Given the description of an element on the screen output the (x, y) to click on. 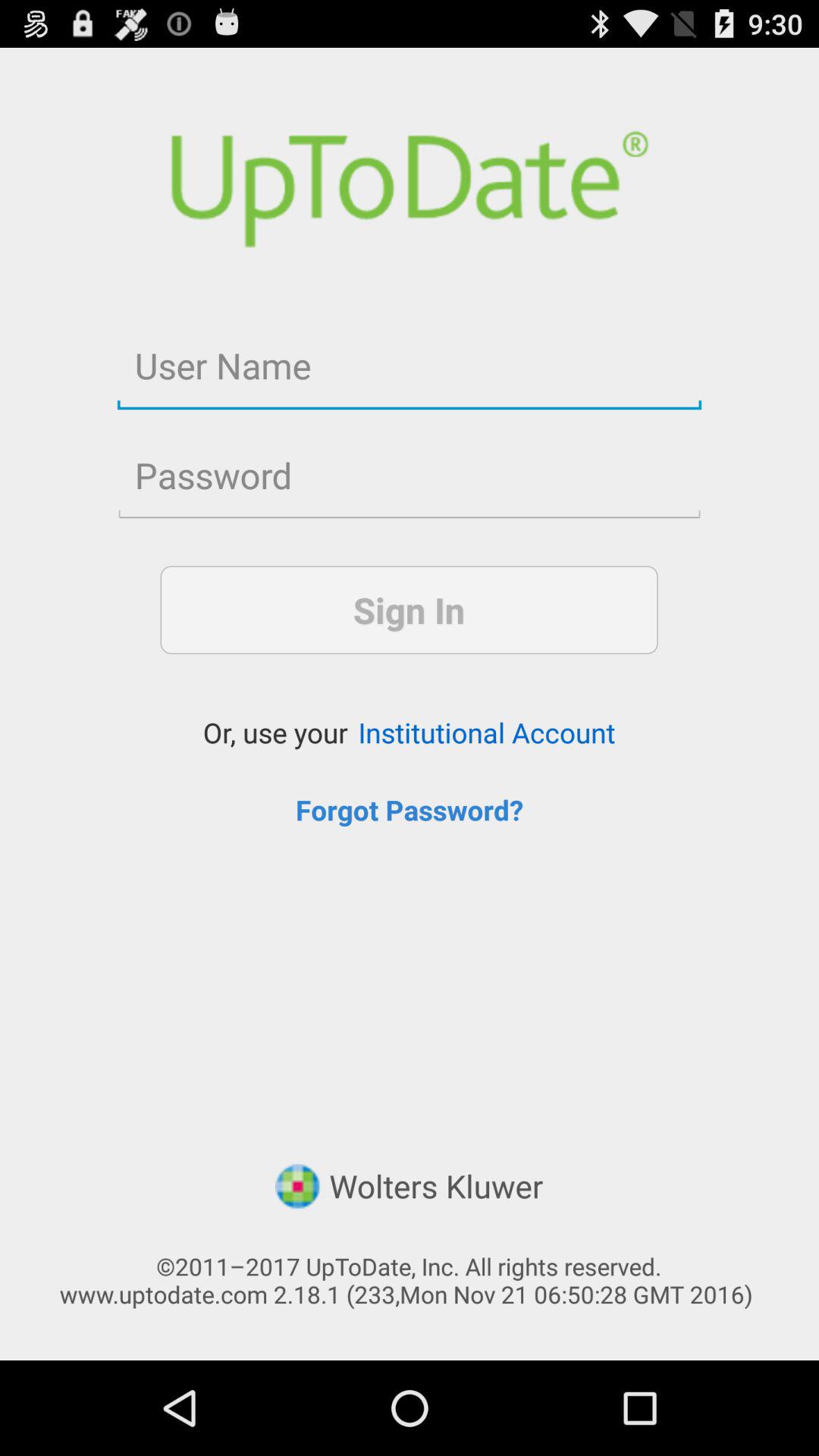
press the wolters kluwer (409, 1187)
